Given the description of an element on the screen output the (x, y) to click on. 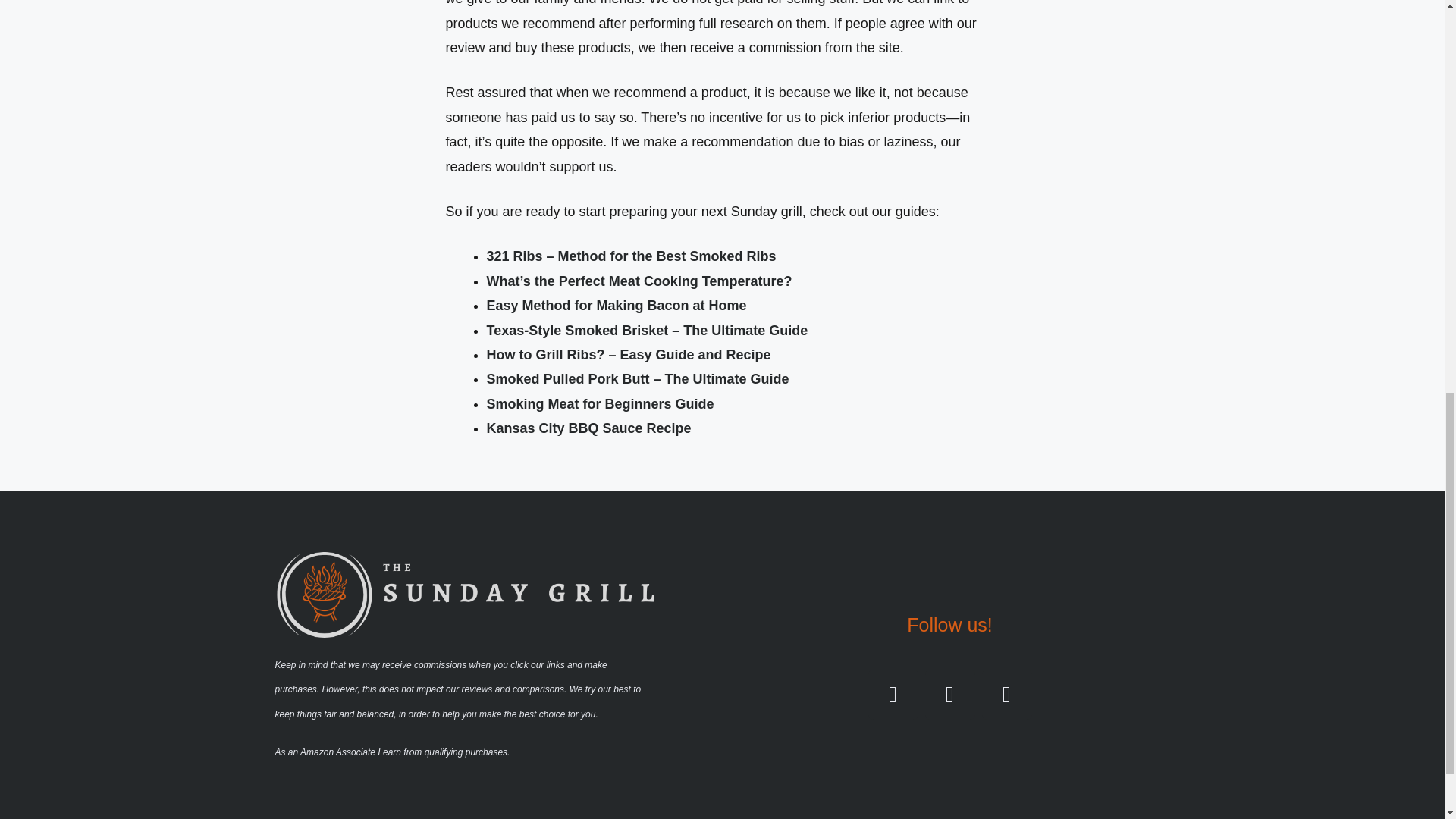
Smoking Meat for Beginners Guide (600, 403)
Easy Method for Making Bacon at Home (616, 305)
Kansas City BBQ Sauce Recipe (588, 427)
